Given the description of an element on the screen output the (x, y) to click on. 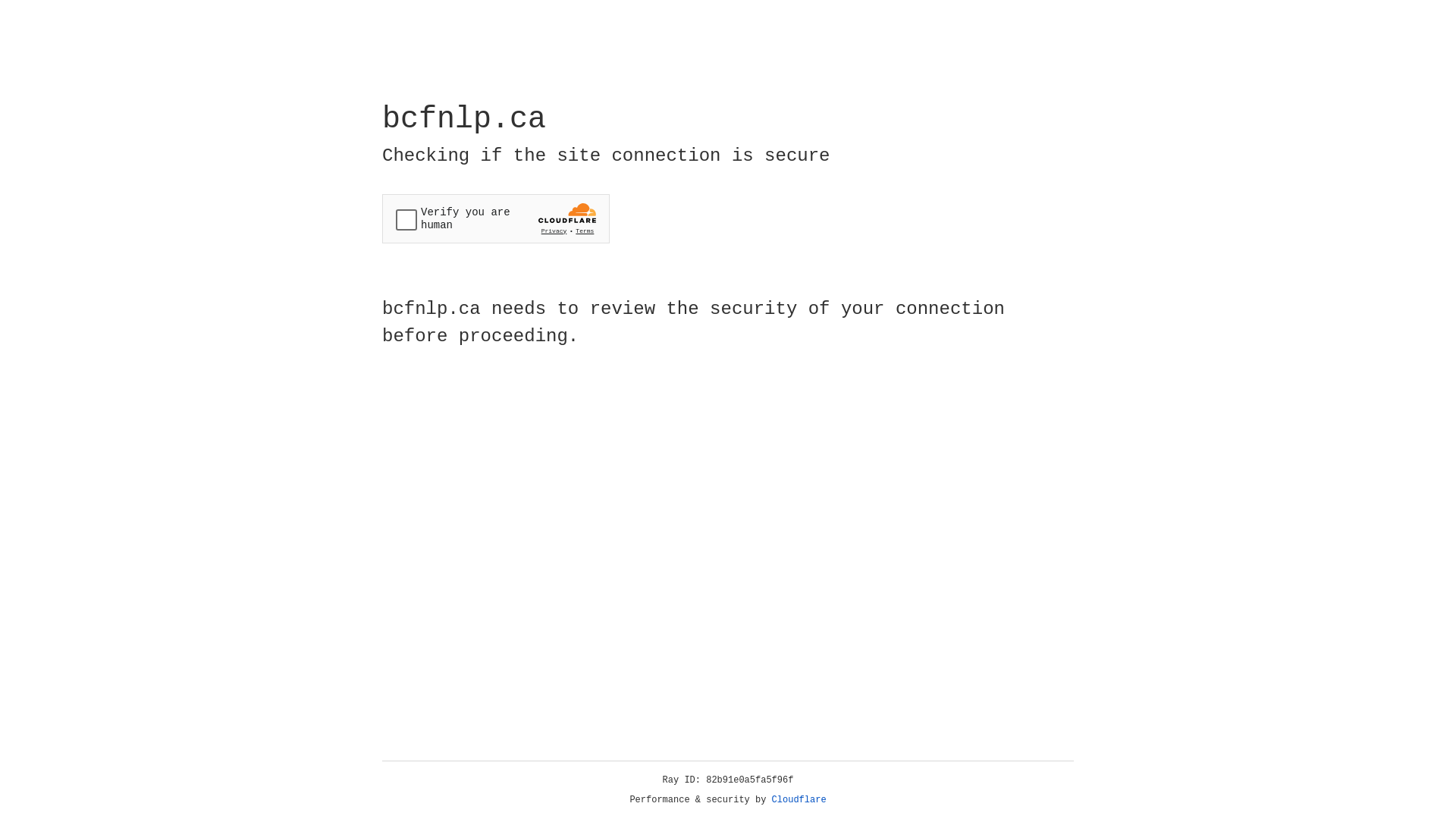
Cloudflare Element type: text (798, 799)
Widget containing a Cloudflare security challenge Element type: hover (495, 218)
